Given the description of an element on the screen output the (x, y) to click on. 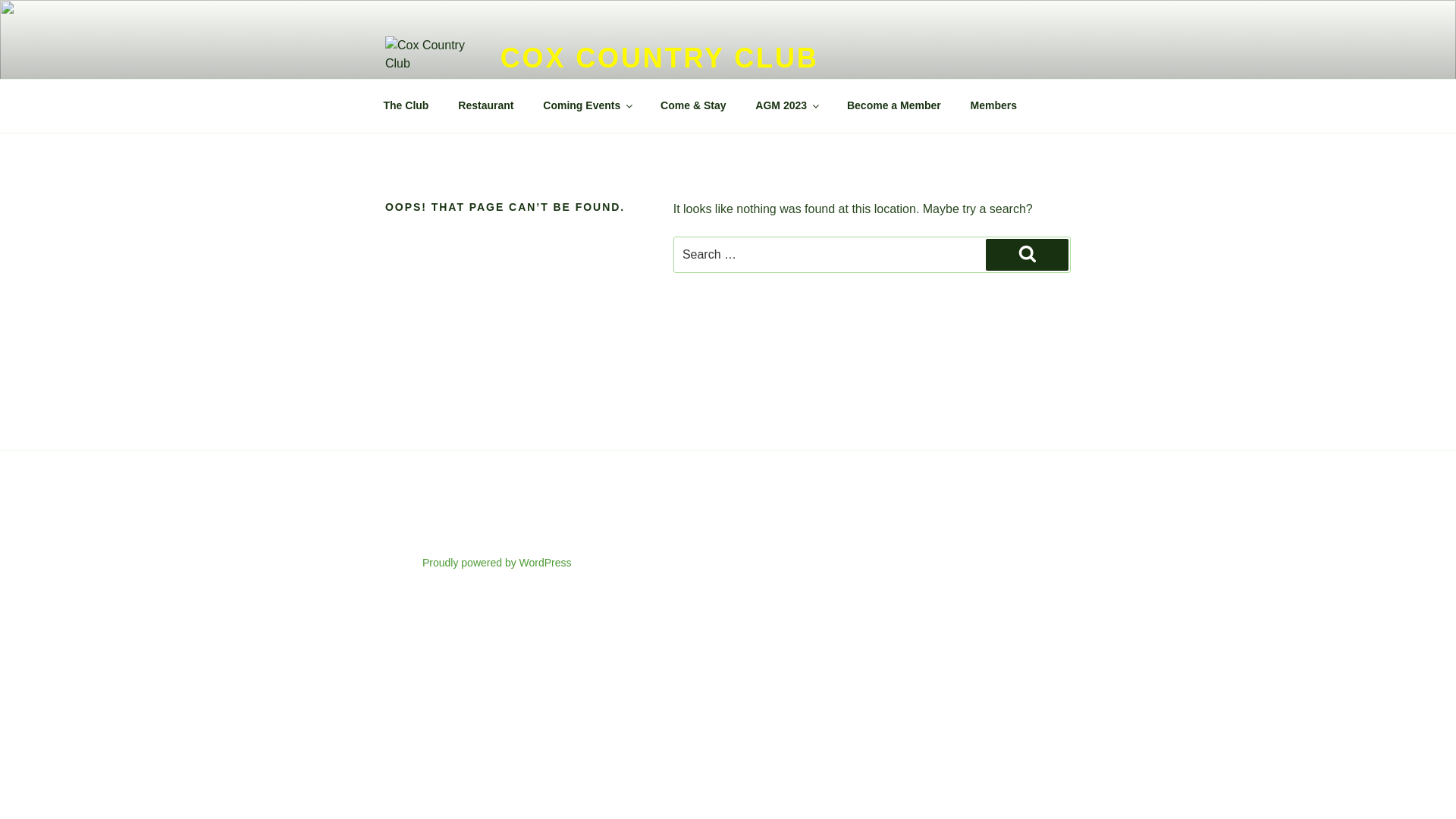
Search Element type: text (1026, 254)
Proudly powered by WordPress Element type: text (496, 562)
AGM 2023 Element type: text (786, 105)
Coming Events Element type: text (587, 105)
Come & Stay Element type: text (693, 105)
Members Element type: text (993, 105)
COX COUNTRY CLUB Element type: text (659, 57)
Restaurant Element type: text (486, 105)
Become a Member Element type: text (893, 105)
The Club Element type: text (406, 105)
